Given the description of an element on the screen output the (x, y) to click on. 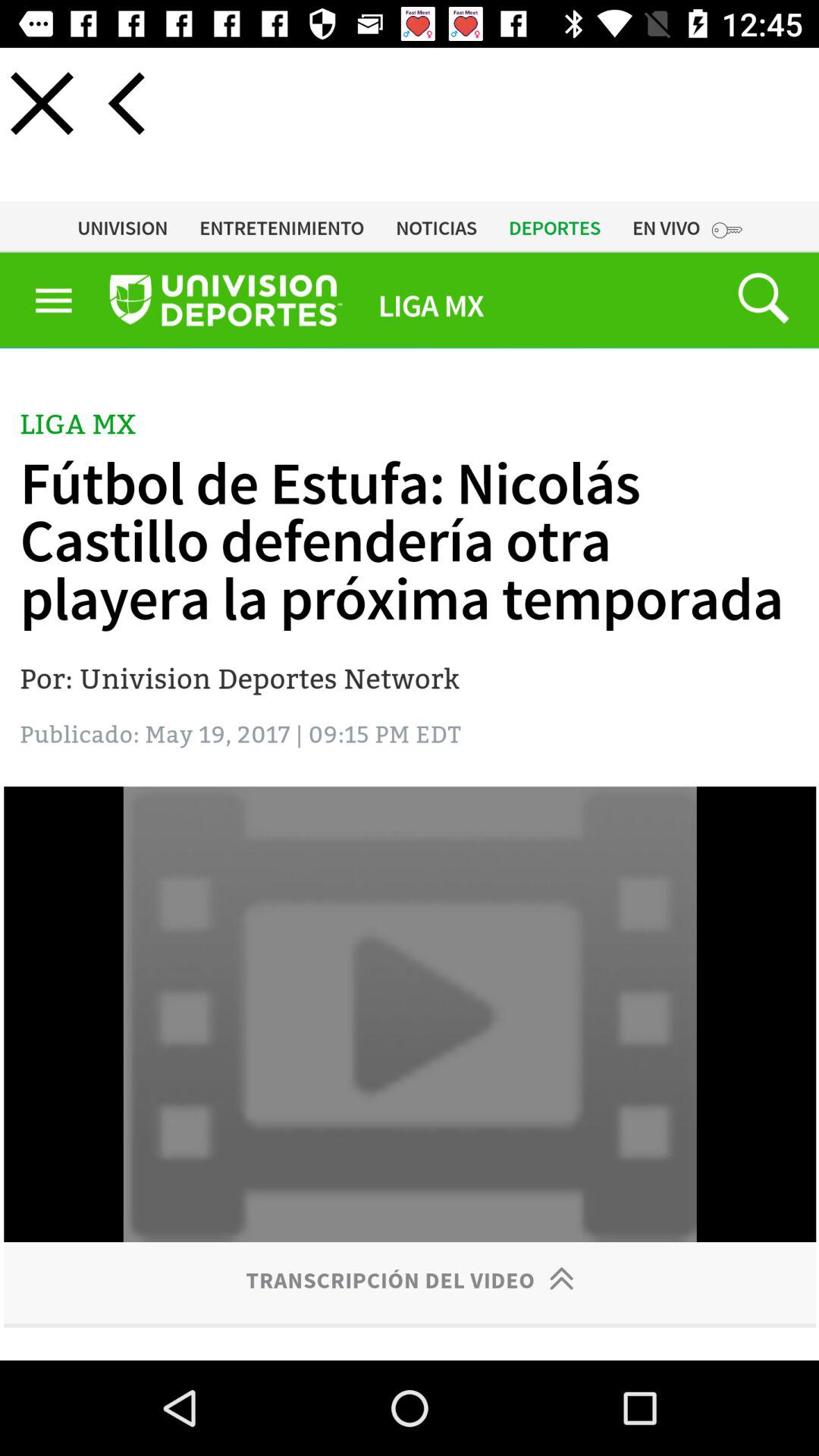
close it (41, 103)
